Given the description of an element on the screen output the (x, y) to click on. 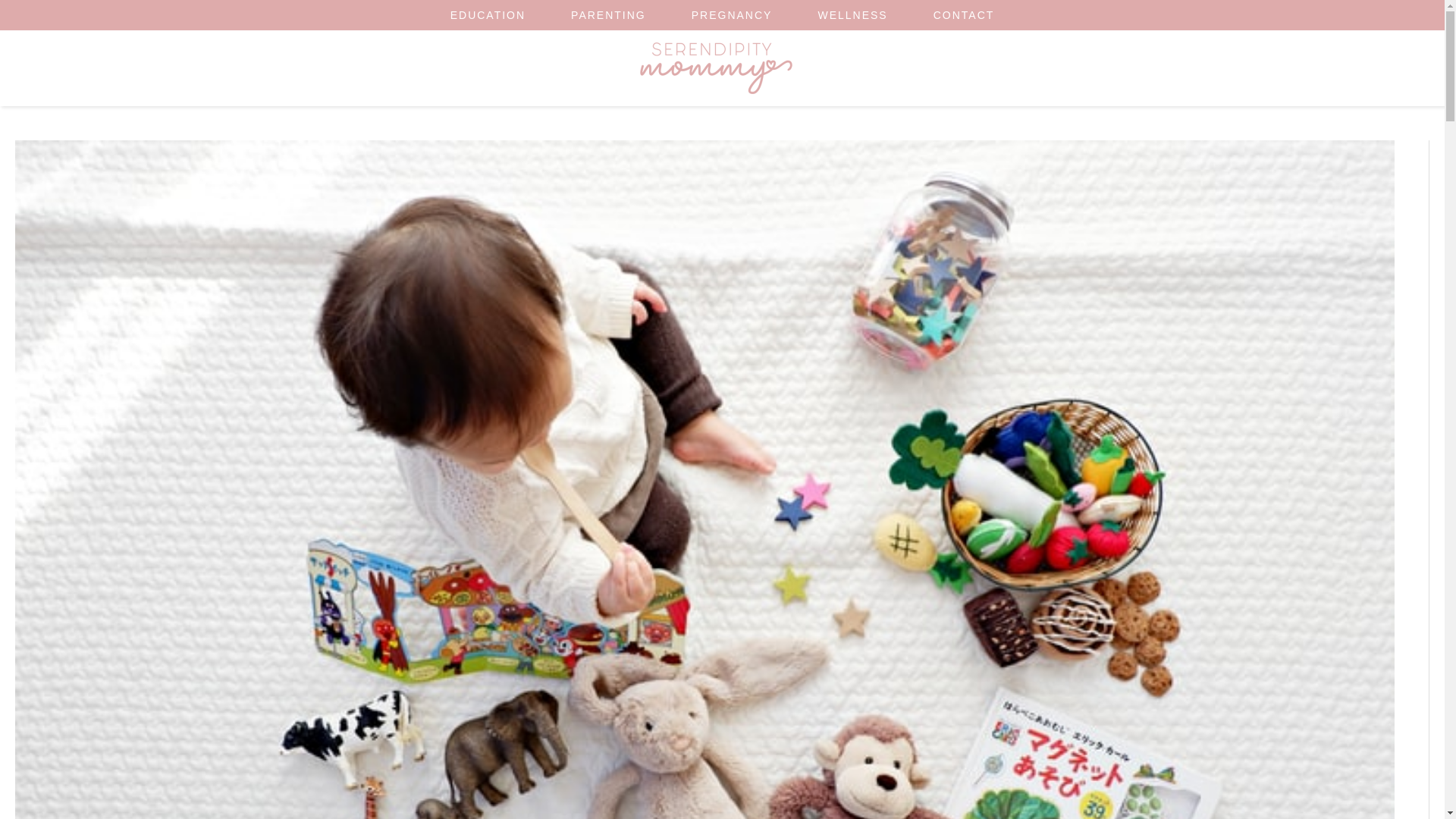
WELLNESS (852, 15)
PARENTING (608, 15)
EDUCATION (488, 15)
CONTACT (964, 15)
PREGNANCY (731, 15)
